Given the description of an element on the screen output the (x, y) to click on. 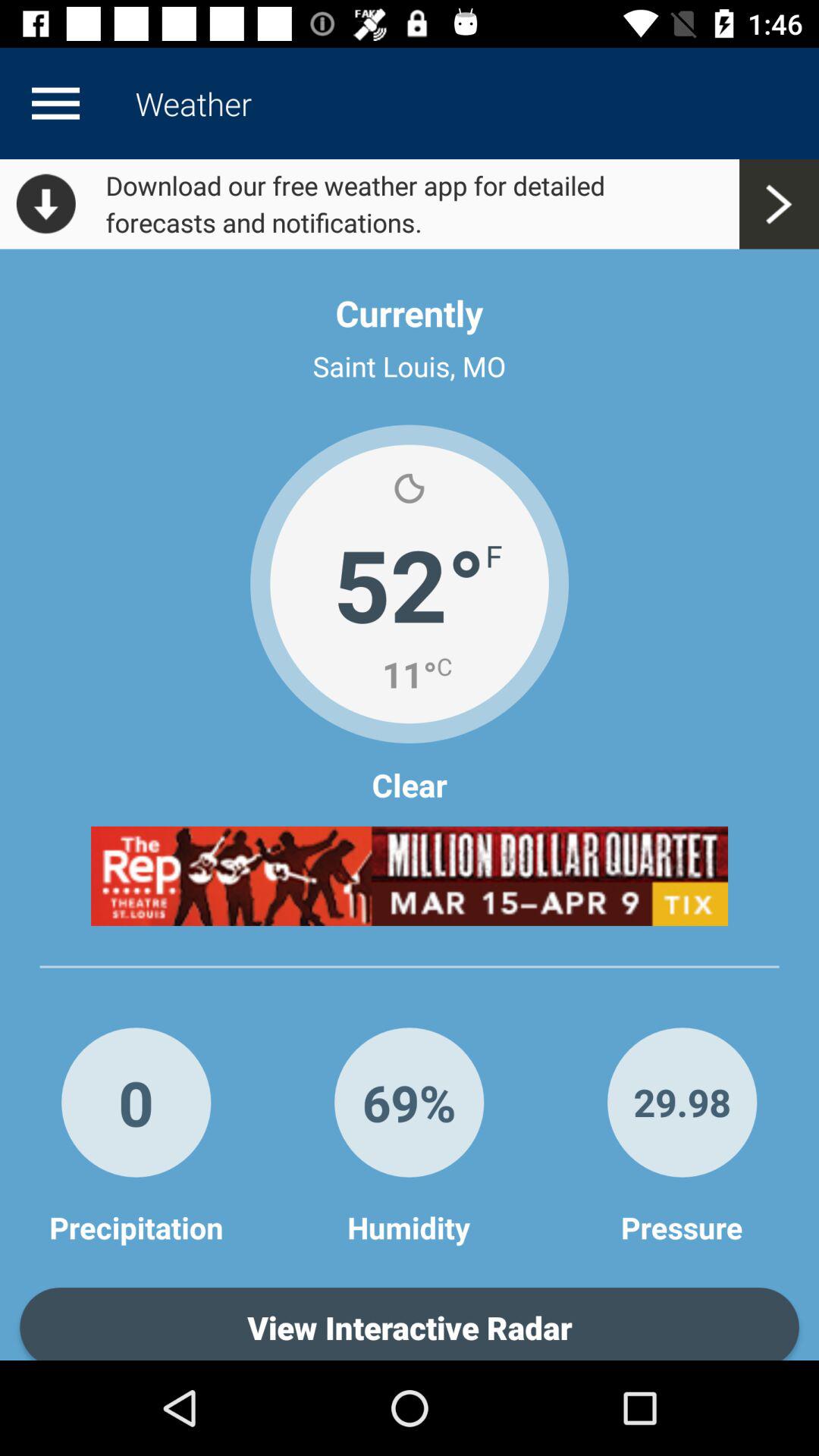
go to settings (55, 103)
